Given the description of an element on the screen output the (x, y) to click on. 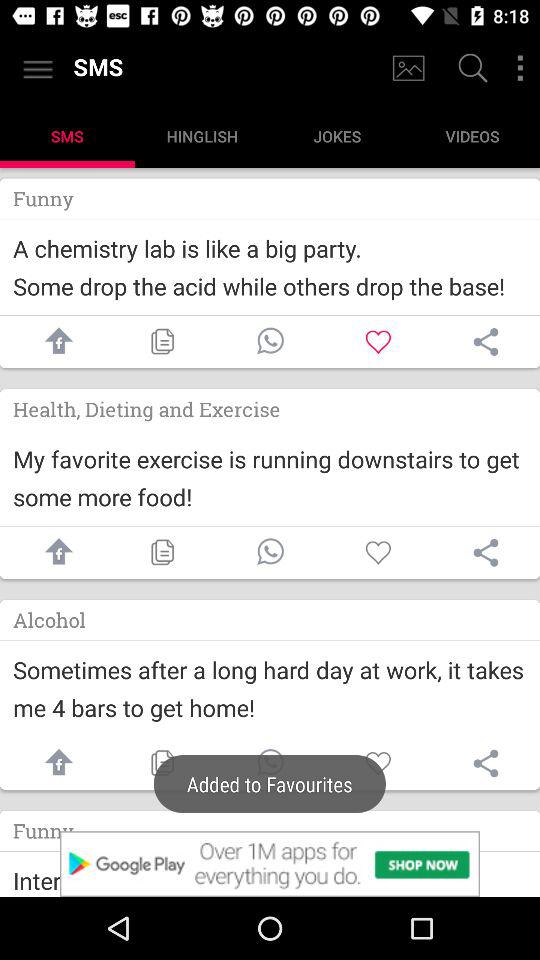
share the article (486, 763)
